Given the description of an element on the screen output the (x, y) to click on. 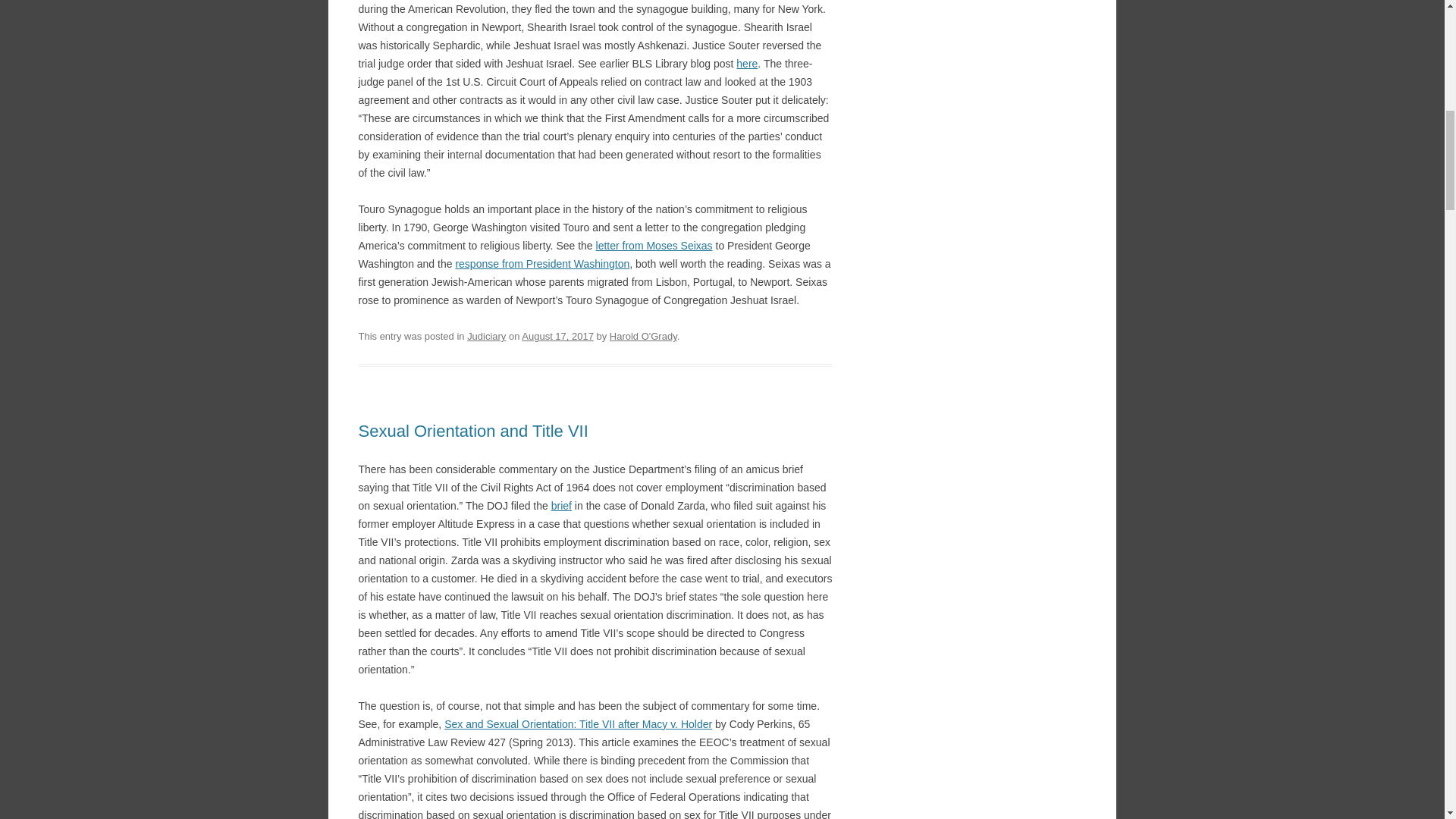
Sexual Orientation and Title VII (473, 430)
View all posts by Harold O'Grady (643, 336)
brief (561, 505)
Sex and Sexual Orientation: Title VII after Macy v. Holder (577, 724)
letter from Moses Seixas (654, 245)
August 17, 2017 (557, 336)
Judiciary (486, 336)
4:38 pm (557, 336)
Harold O'Grady (643, 336)
here (746, 63)
